Given the description of an element on the screen output the (x, y) to click on. 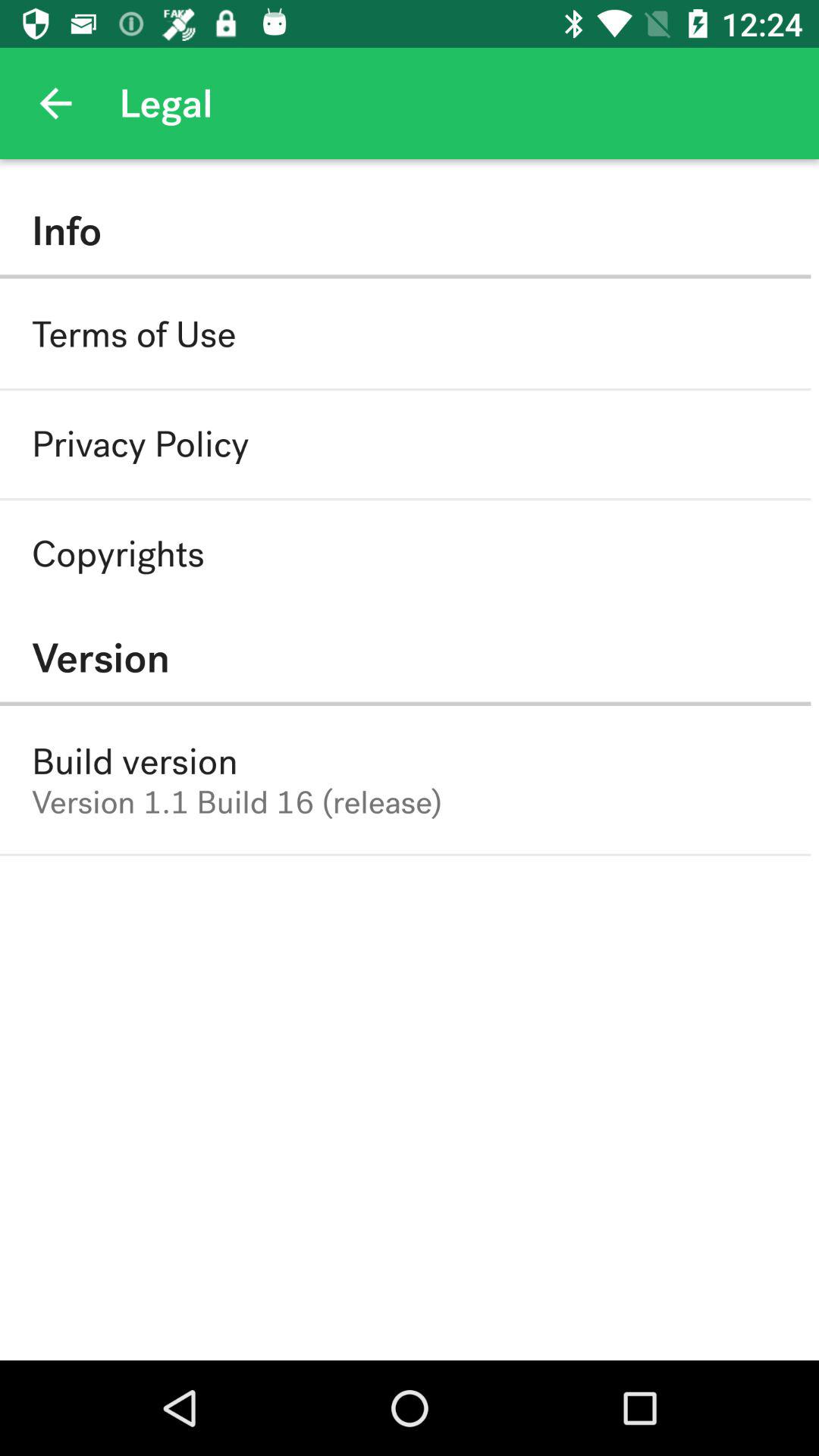
open item below info item (133, 334)
